Given the description of an element on the screen output the (x, y) to click on. 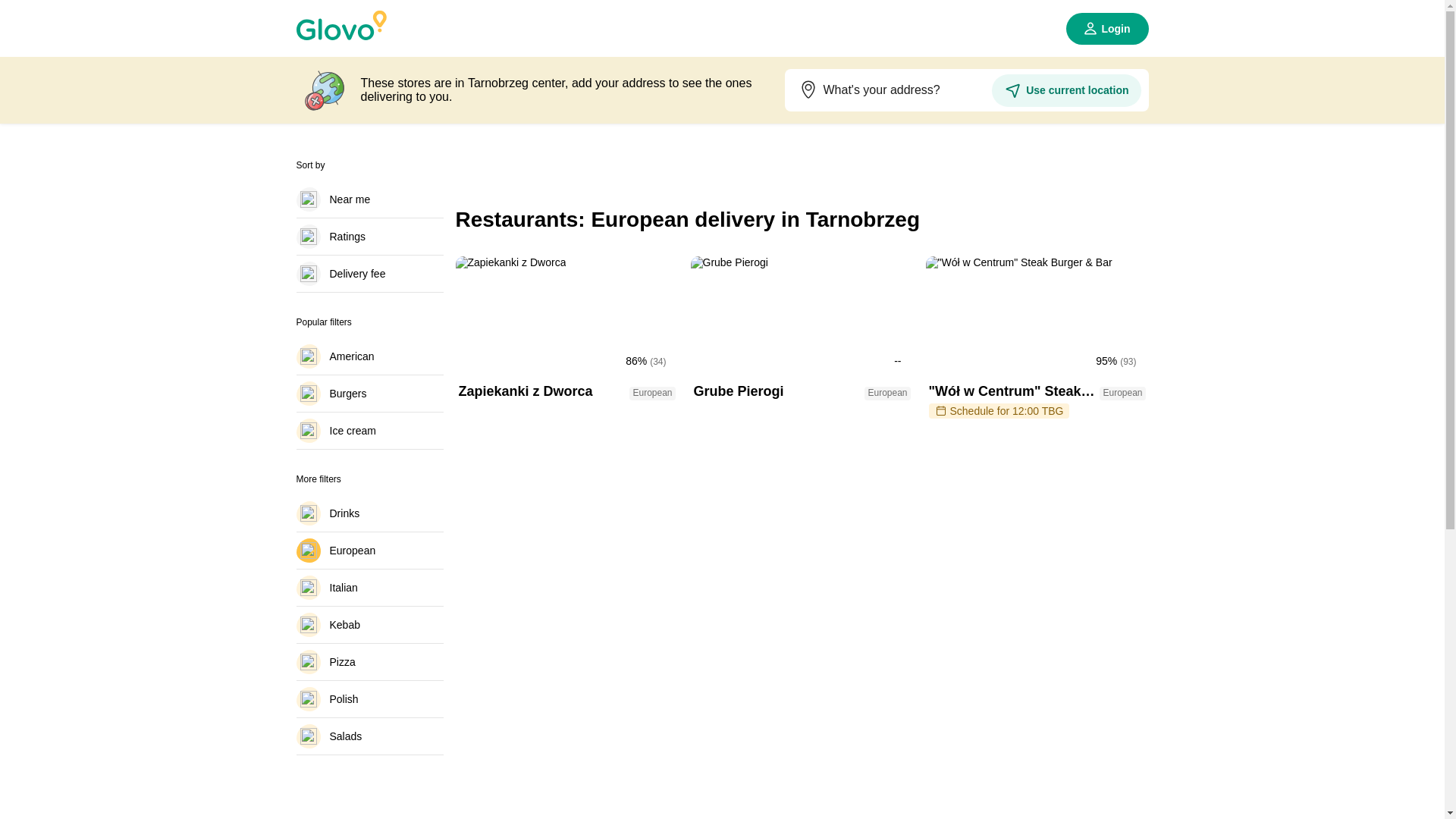
Salads (368, 735)
Ratings (368, 236)
Login (1106, 29)
Ice cream (368, 430)
American (368, 355)
Polish (368, 699)
Drinks (801, 339)
Near me (368, 513)
European (368, 199)
